Given the description of an element on the screen output the (x, y) to click on. 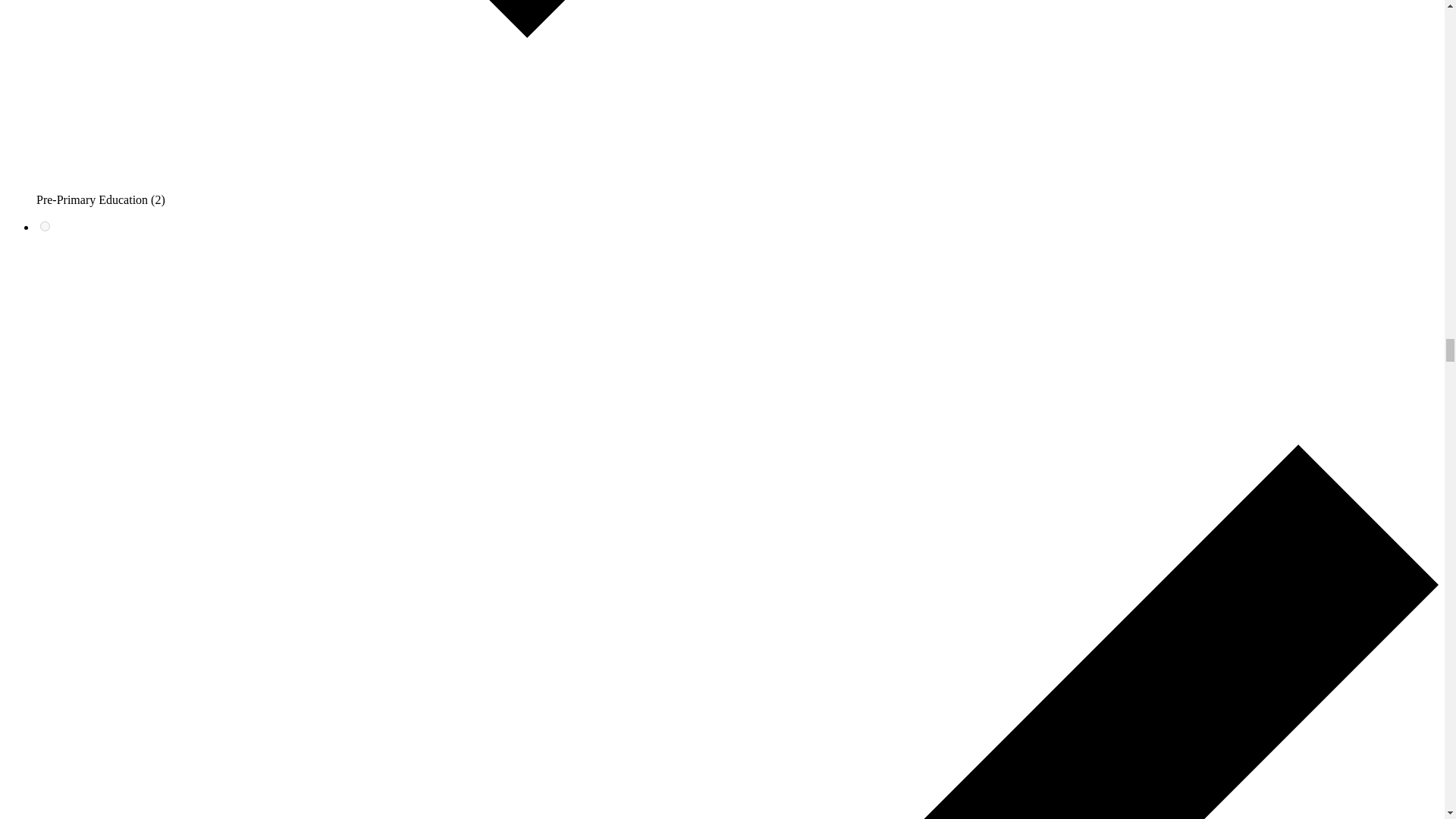
4 (44, 225)
